Given the description of an element on the screen output the (x, y) to click on. 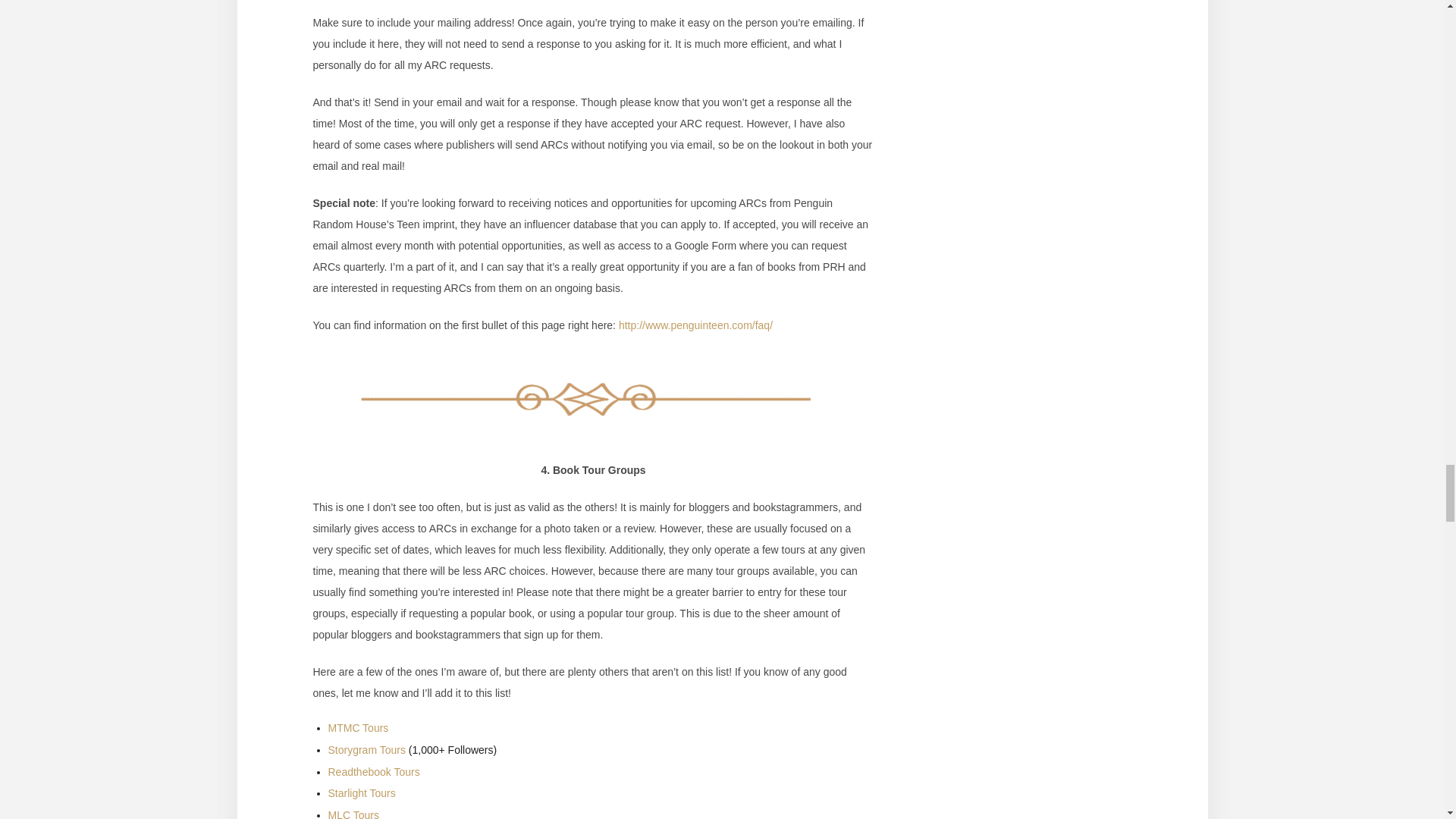
Readthebook Tours (373, 771)
Storygram Tours (365, 749)
MTMC Tours (357, 727)
Starlight Tours (360, 793)
MLC Tours (352, 814)
